Given the description of an element on the screen output the (x, y) to click on. 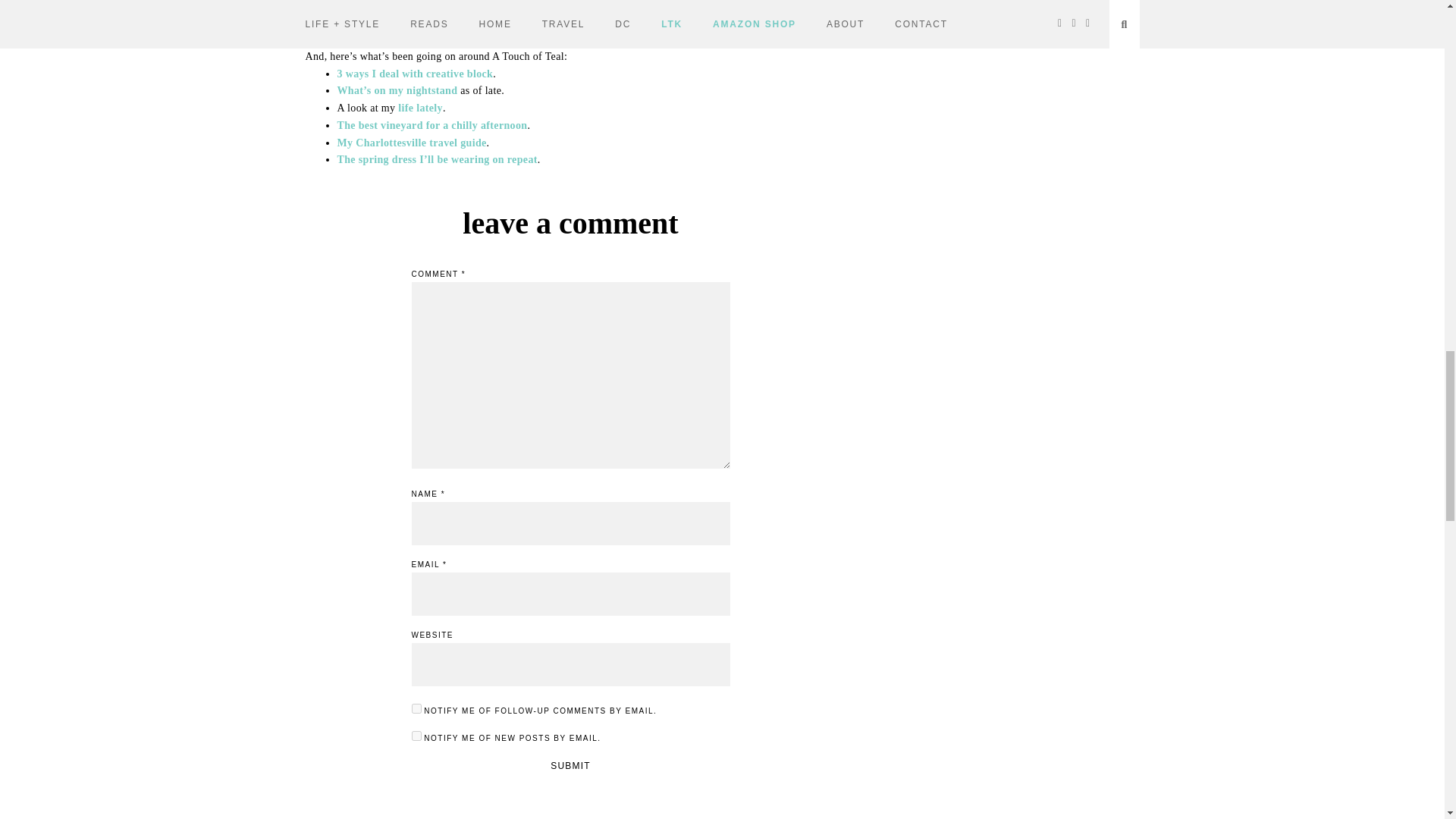
The best vineyard for a chilly afternoon (431, 125)
subscribe (415, 736)
life lately (419, 107)
3 ways I deal with creative block (414, 73)
subscribe (415, 708)
What This Is Us gets right about grief (426, 22)
Submit (570, 765)
My Charlottesville travel guide (411, 142)
